Given the description of an element on the screen output the (x, y) to click on. 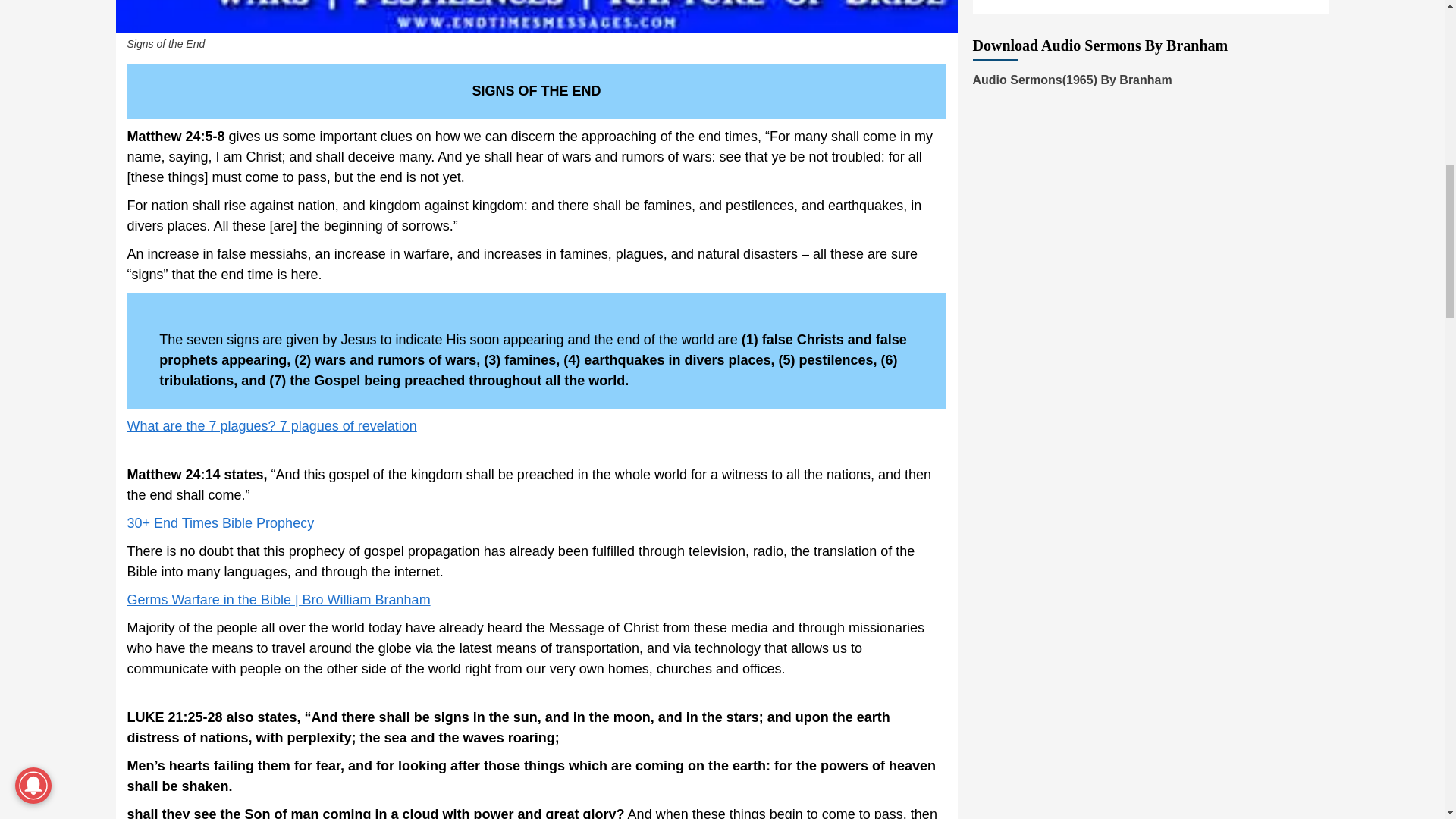
What are the 7 plagues? 7 plagues of revelation (272, 426)
